Given the description of an element on the screen output the (x, y) to click on. 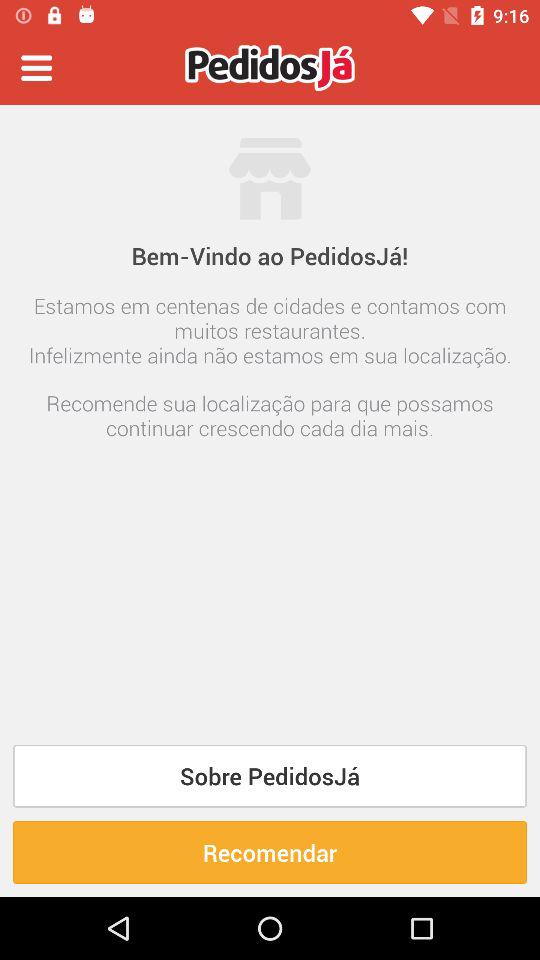
tap the item at the top left corner (36, 68)
